Given the description of an element on the screen output the (x, y) to click on. 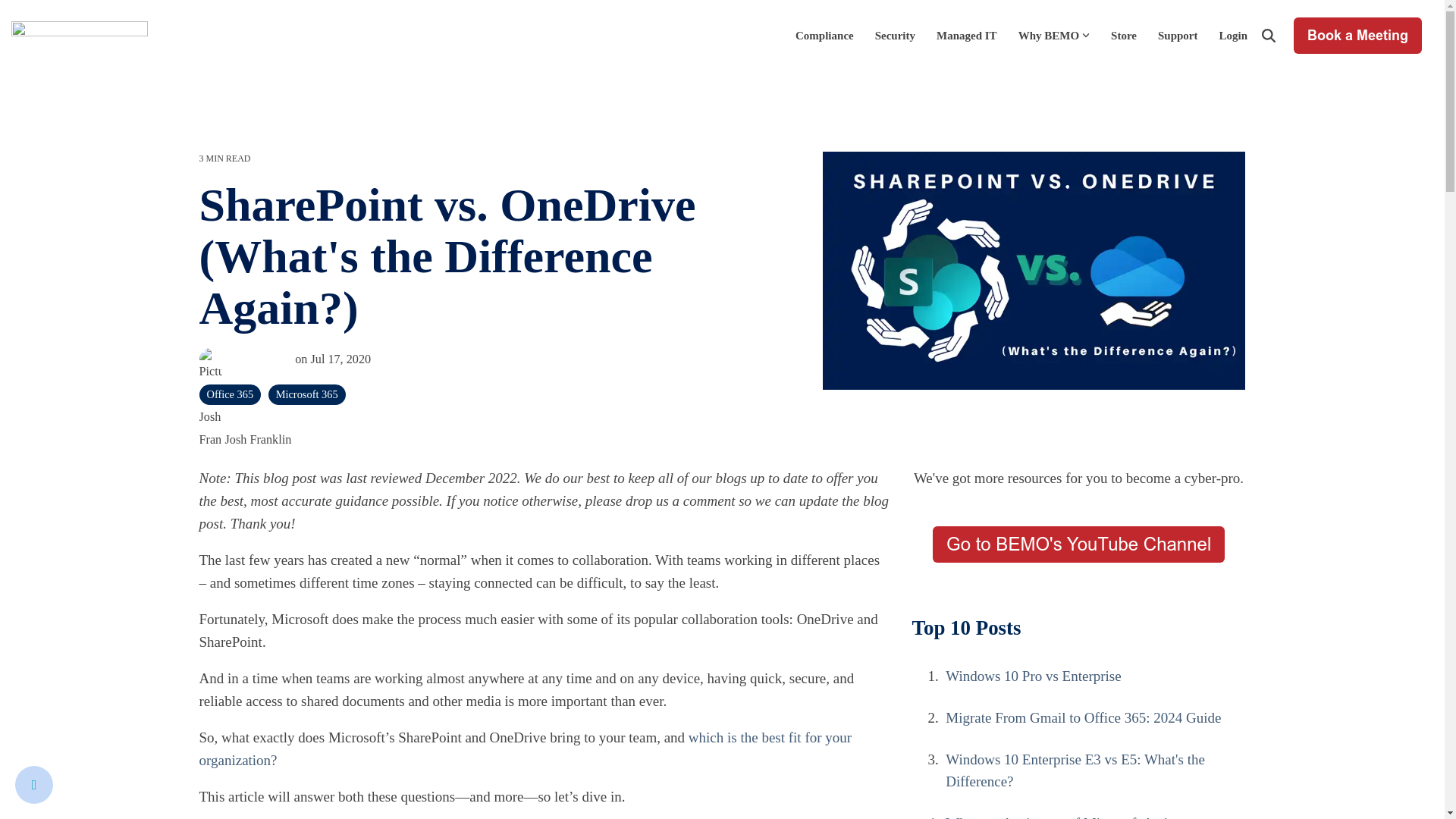
Why BEMO (1053, 35)
Login (1232, 35)
Josh Franklin (244, 359)
which is the best fit for your organization? (524, 748)
Managed IT (966, 35)
Office 365 (229, 394)
Compliance (823, 35)
Microsoft 365 (306, 394)
Support (1177, 35)
